Given the description of an element on the screen output the (x, y) to click on. 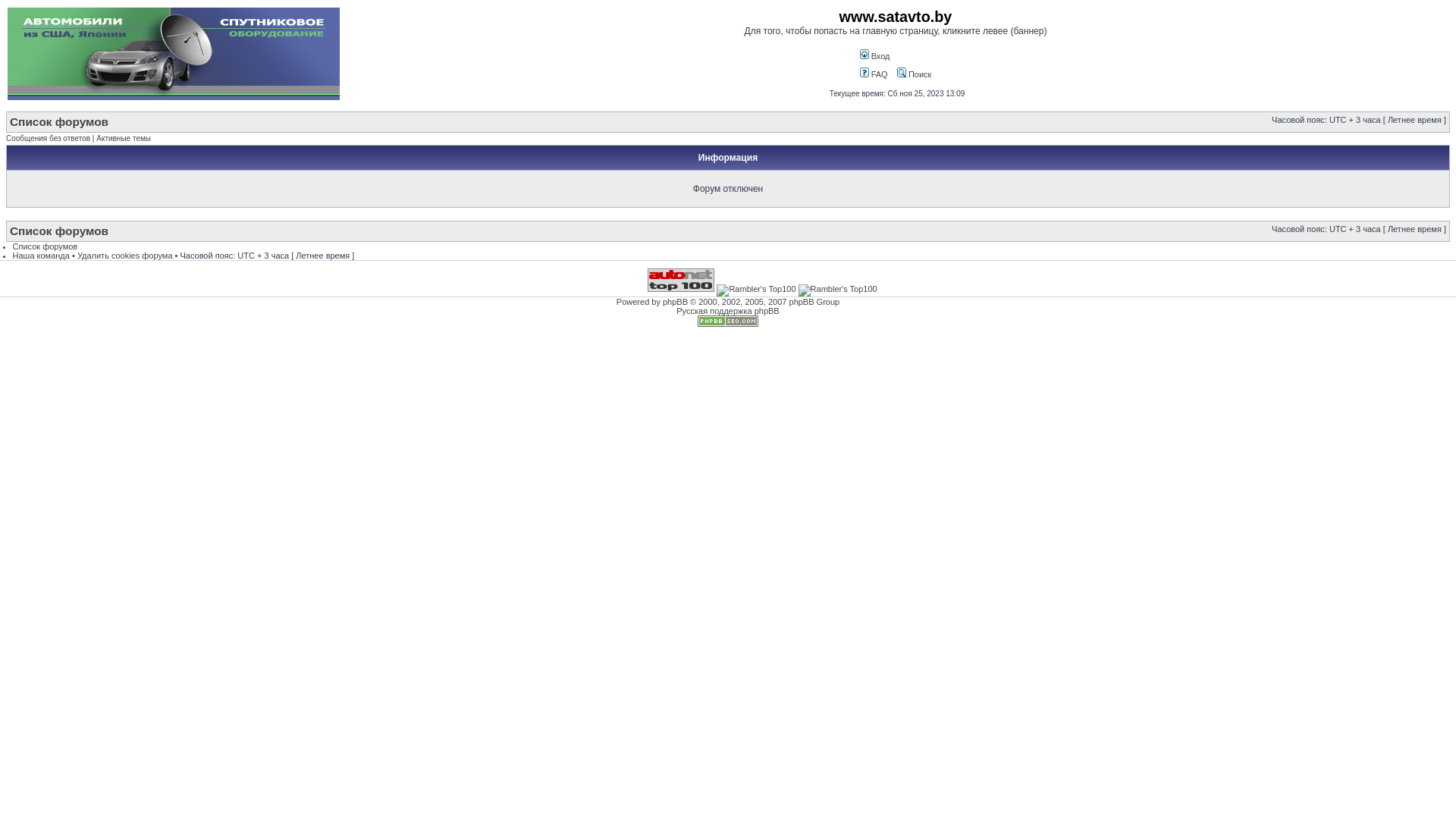
phpBB Element type: text (674, 301)
Search Engine Optimization Element type: hover (727, 323)
FAQ Element type: text (873, 73)
LiveInternet Element type: hover (611, 279)
